Given the description of an element on the screen output the (x, y) to click on. 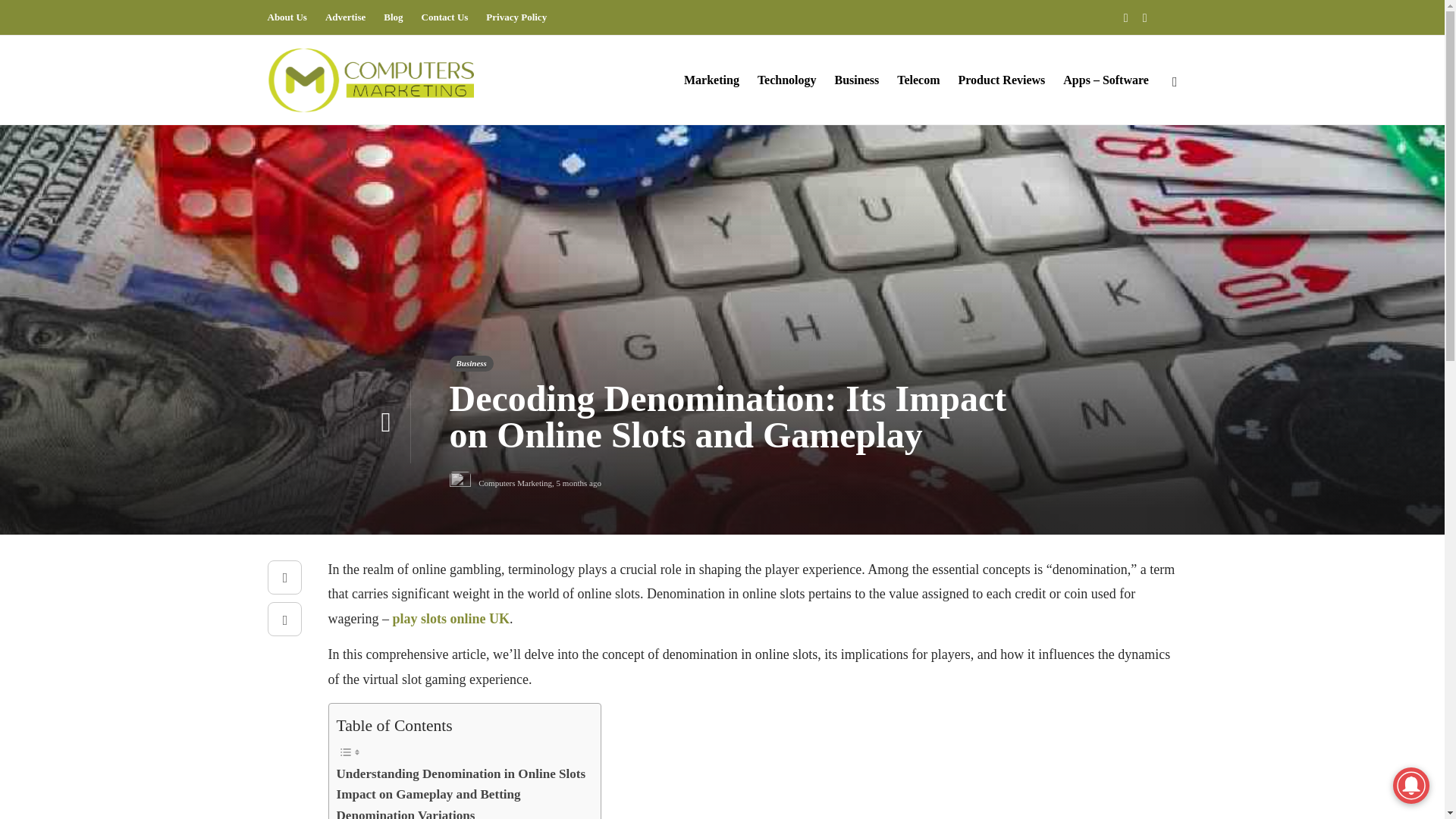
Impact on Gameplay and Betting (428, 793)
About Us (285, 17)
Understanding Denomination in Online Slots (461, 773)
Denomination Variations (406, 812)
Privacy Policy (516, 17)
Advertise (344, 17)
Contact Us (445, 17)
